Given the description of an element on the screen output the (x, y) to click on. 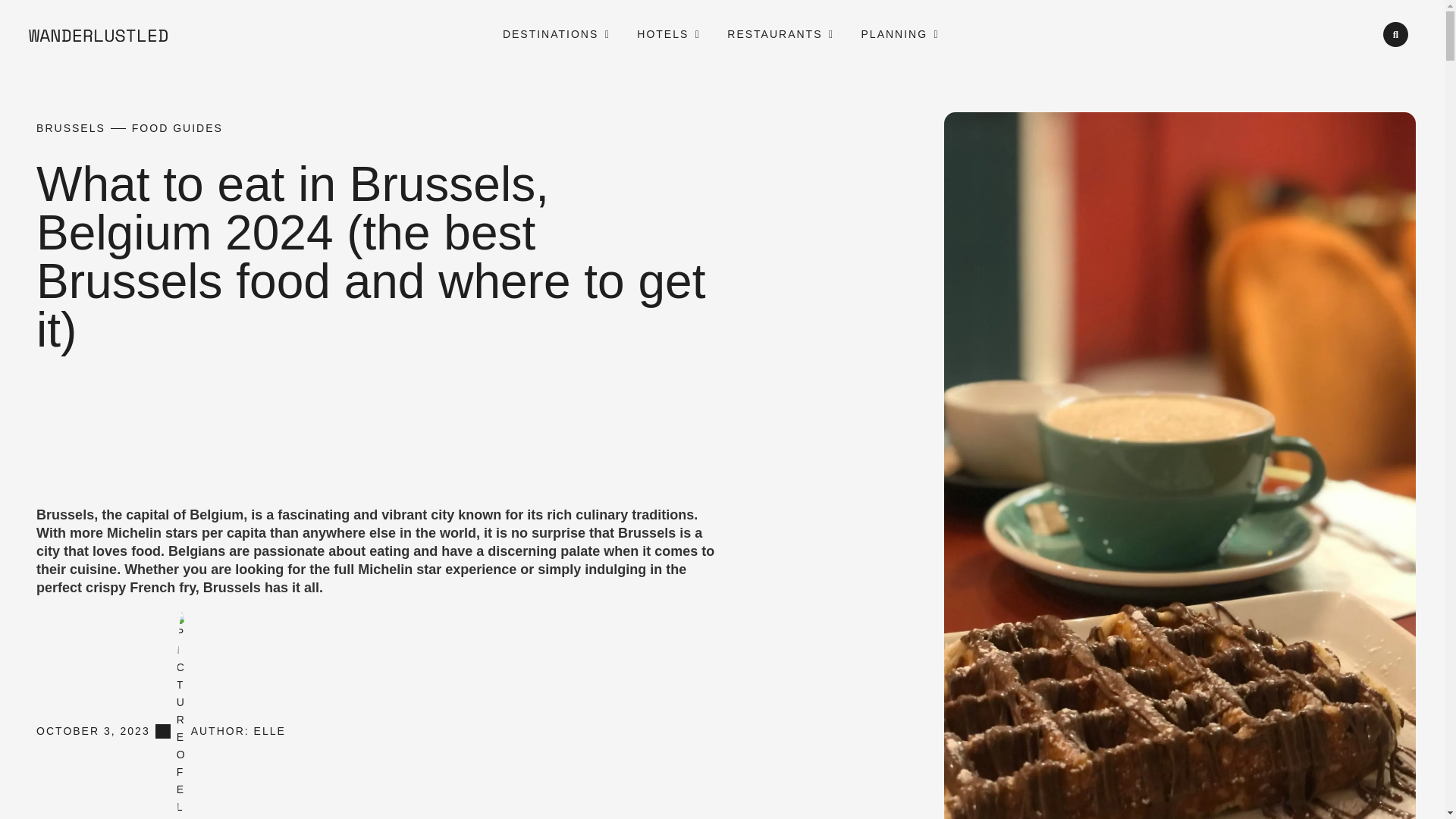
DESTINATIONS (550, 34)
HOTELS (662, 34)
